Given the description of an element on the screen output the (x, y) to click on. 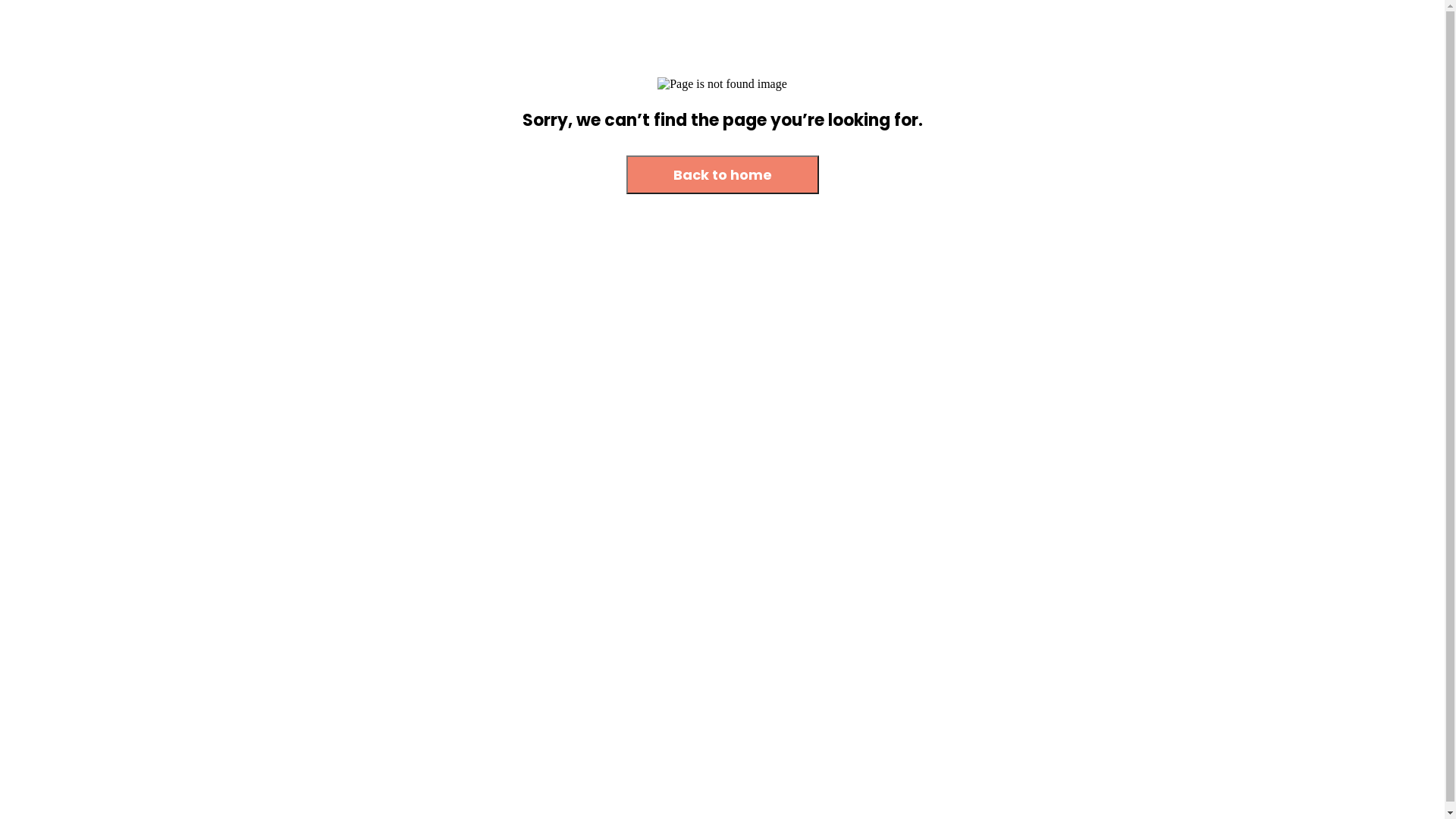
Back to home Element type: text (722, 174)
Back to home Element type: text (722, 175)
